Given the description of an element on the screen output the (x, y) to click on. 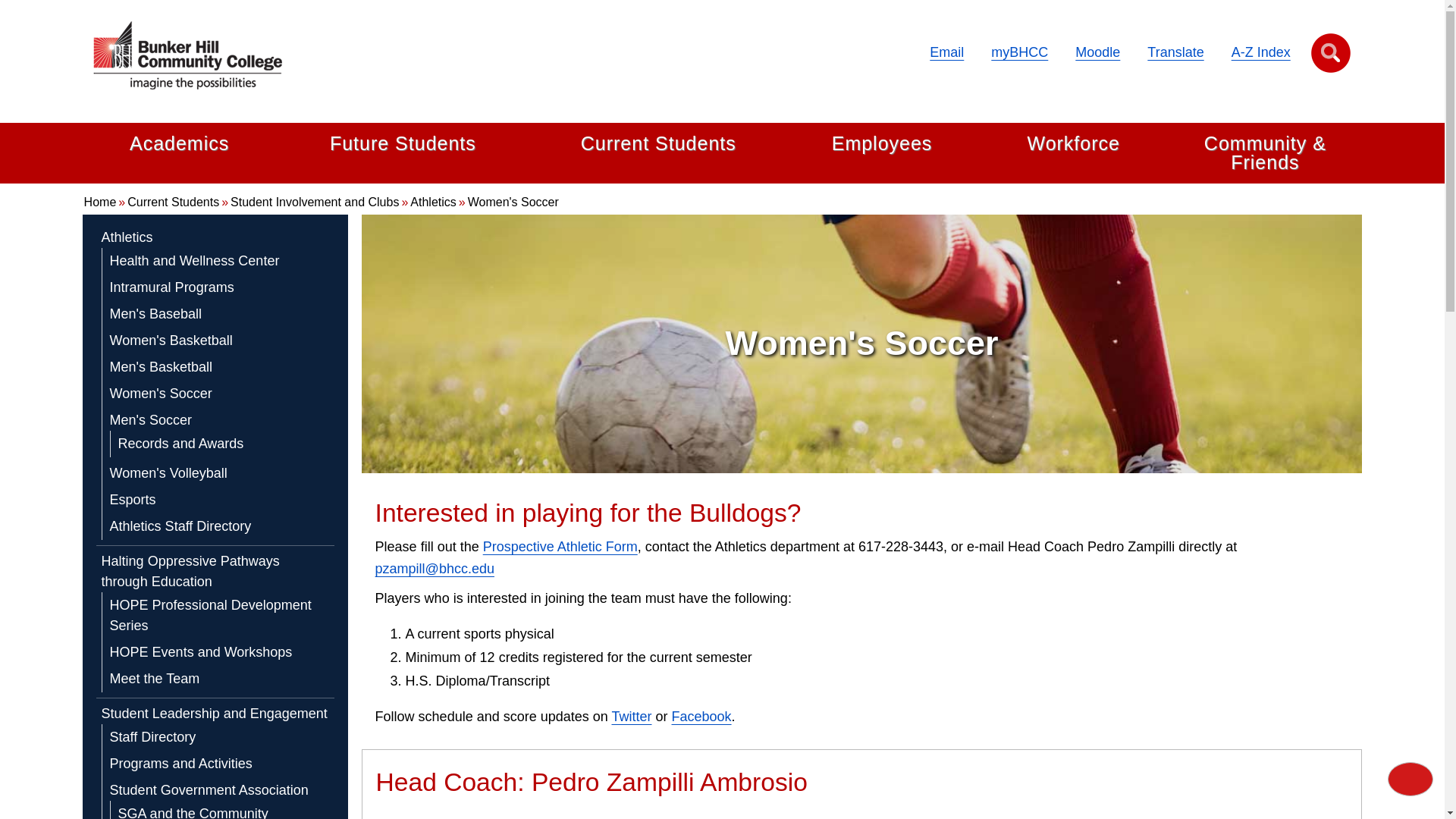
Email (946, 52)
Skip to main content (4, 4)
Employees (882, 143)
Translate (1175, 52)
Moodle (1097, 52)
Academics (178, 143)
Current Students (658, 143)
Workforce (1072, 143)
myBHCC (1019, 52)
A-Z Index (1260, 52)
Future Students (403, 143)
